Given the description of an element on the screen output the (x, y) to click on. 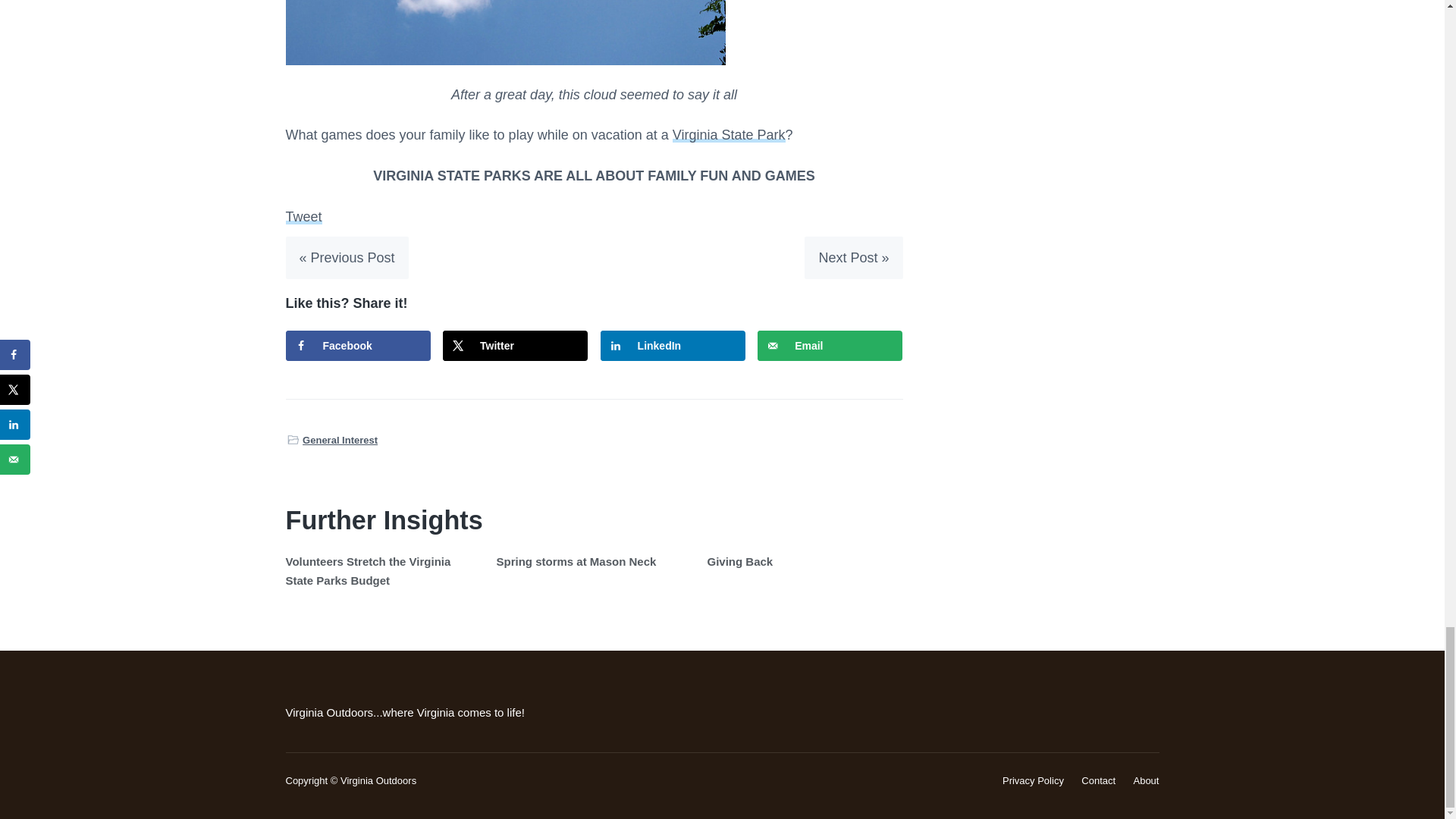
Giving Back (739, 561)
Tweet (303, 216)
Share on Facebook (357, 345)
Facebook (357, 345)
Spring storms at Mason Neck (576, 561)
Virginia State Park (729, 134)
Volunteers Stretch the Virginia State Parks Budget (367, 570)
Share on LinkedIn (672, 345)
Send over email (829, 345)
Permanent Link to Giving Back (739, 561)
